Given the description of an element on the screen output the (x, y) to click on. 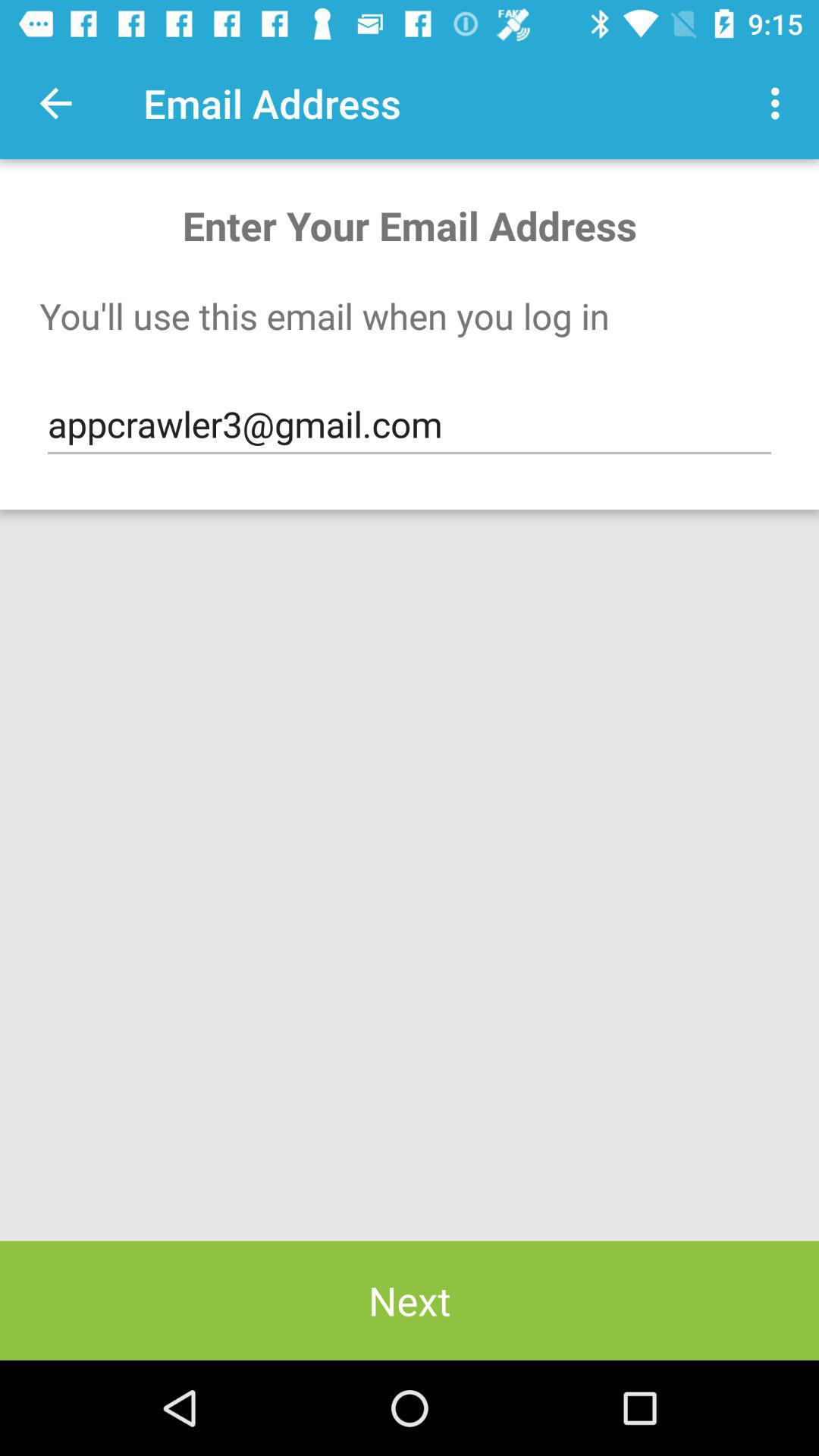
launch app next to the email address item (55, 103)
